Given the description of an element on the screen output the (x, y) to click on. 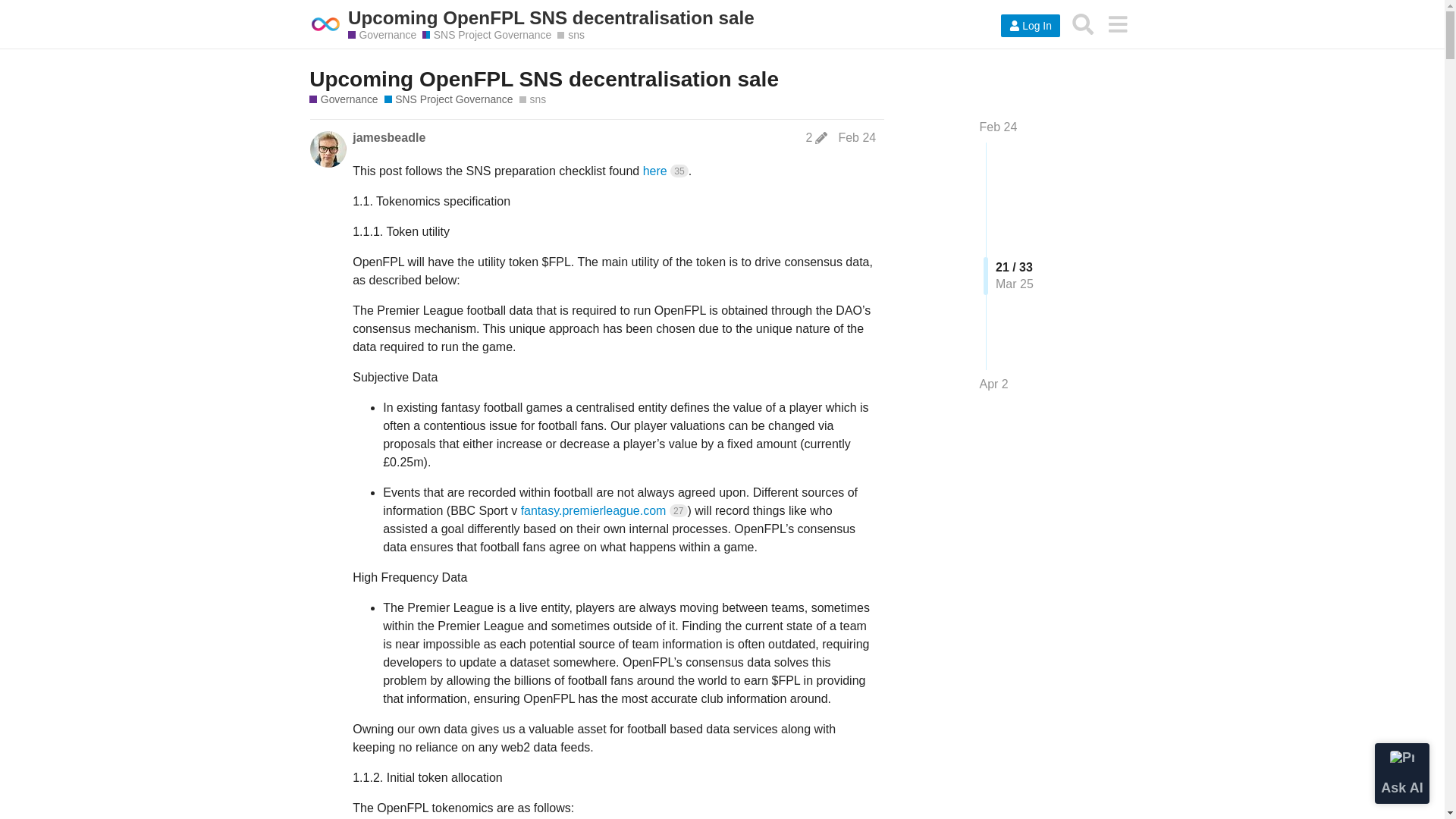
2 (815, 137)
jamesbeadle (388, 137)
here 35 (665, 170)
Post date (857, 137)
sns (533, 99)
Jump to the first post (998, 126)
SNS Project Governance (448, 99)
27 clicks (678, 510)
Feb 24 (857, 137)
Log In (1030, 25)
Upcoming OpenFPL SNS decentralisation sale (543, 78)
SNS Project Governance (486, 34)
fantasy.premierleague.com 27 (604, 510)
